Given the description of an element on the screen output the (x, y) to click on. 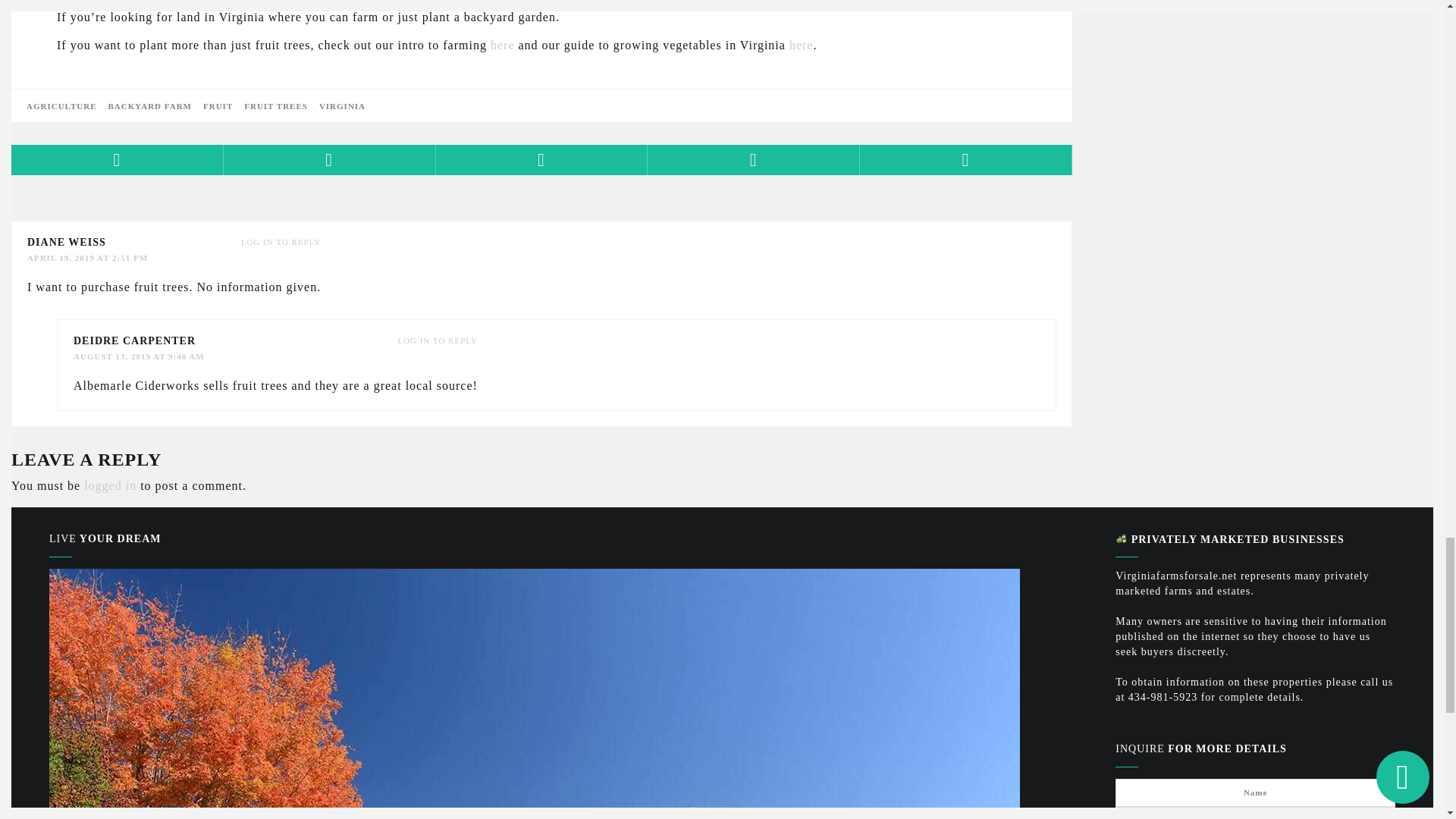
AGRICULTURE (61, 105)
logged in (110, 485)
linkedin (753, 159)
APRIL 19, 2019 AT 2:51 PM (87, 257)
LOG IN TO REPLY (437, 339)
facebook (117, 159)
here (502, 44)
googleplus (541, 159)
email (965, 159)
BACKYARD FARM (149, 105)
FRUIT TREES (275, 105)
twitter (329, 159)
AUGUST 13, 2019 AT 9:46 AM (139, 356)
here (801, 44)
LOG IN TO REPLY (280, 241)
